Given the description of an element on the screen output the (x, y) to click on. 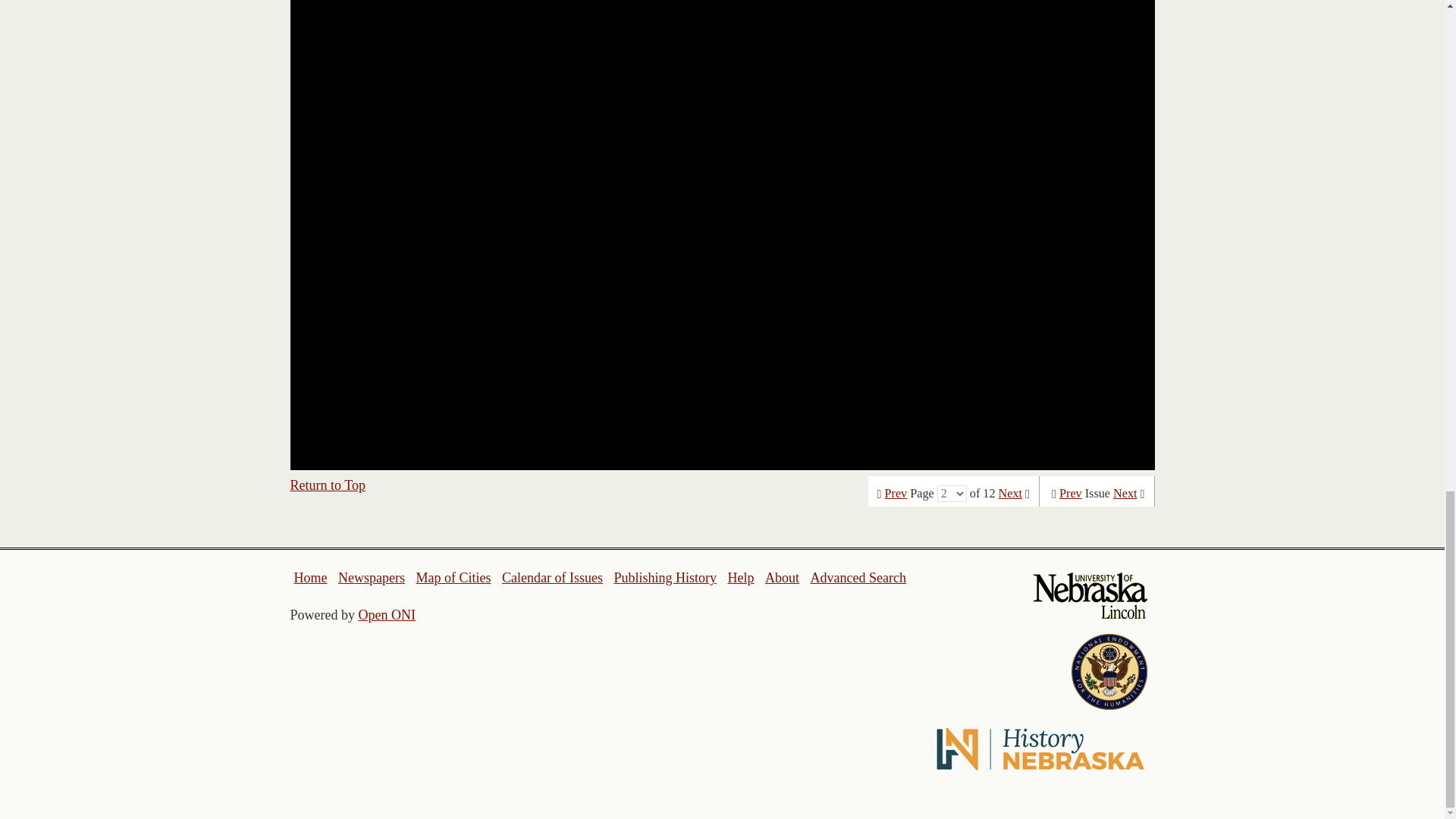
Next (1010, 493)
Return to Top (327, 485)
Calendar of Issues (552, 577)
Open ONI (386, 614)
Home (310, 577)
Advanced Search (857, 577)
Publishing History (664, 577)
Map of Cities (452, 577)
Help (740, 577)
Newspapers (370, 577)
